Given the description of an element on the screen output the (x, y) to click on. 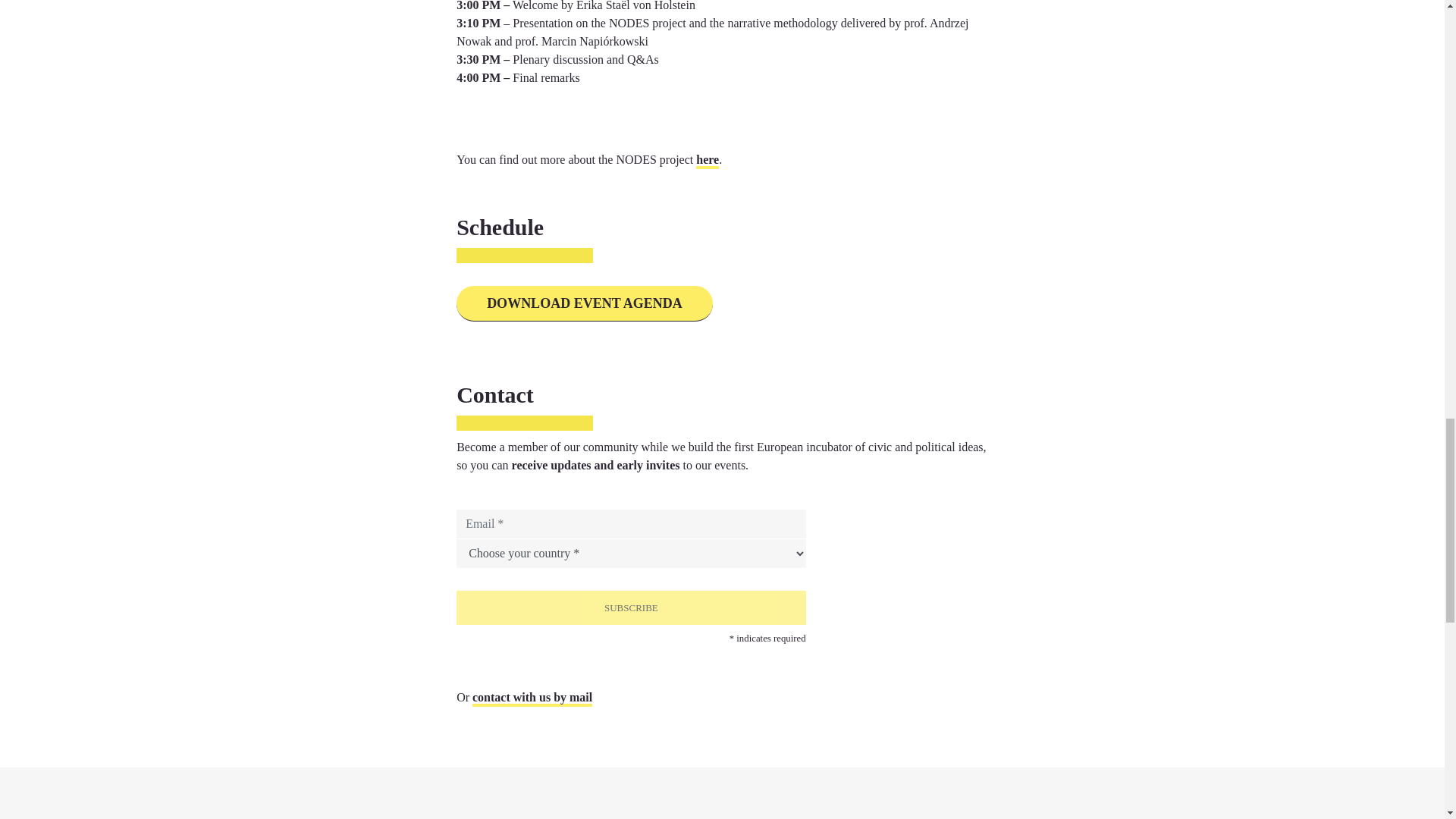
Subscribe (631, 607)
